Given the description of an element on the screen output the (x, y) to click on. 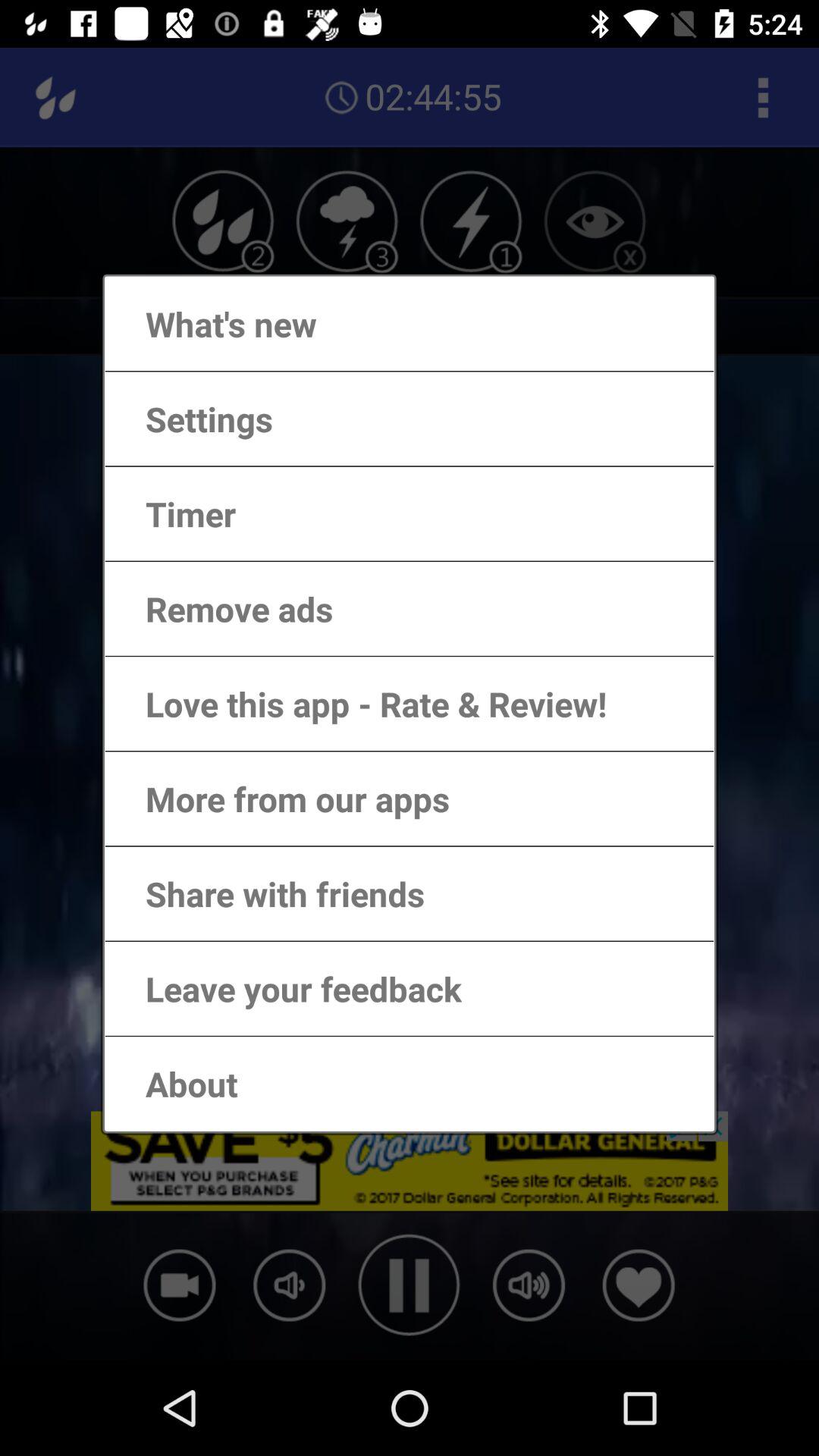
press the remove ads item (224, 608)
